Given the description of an element on the screen output the (x, y) to click on. 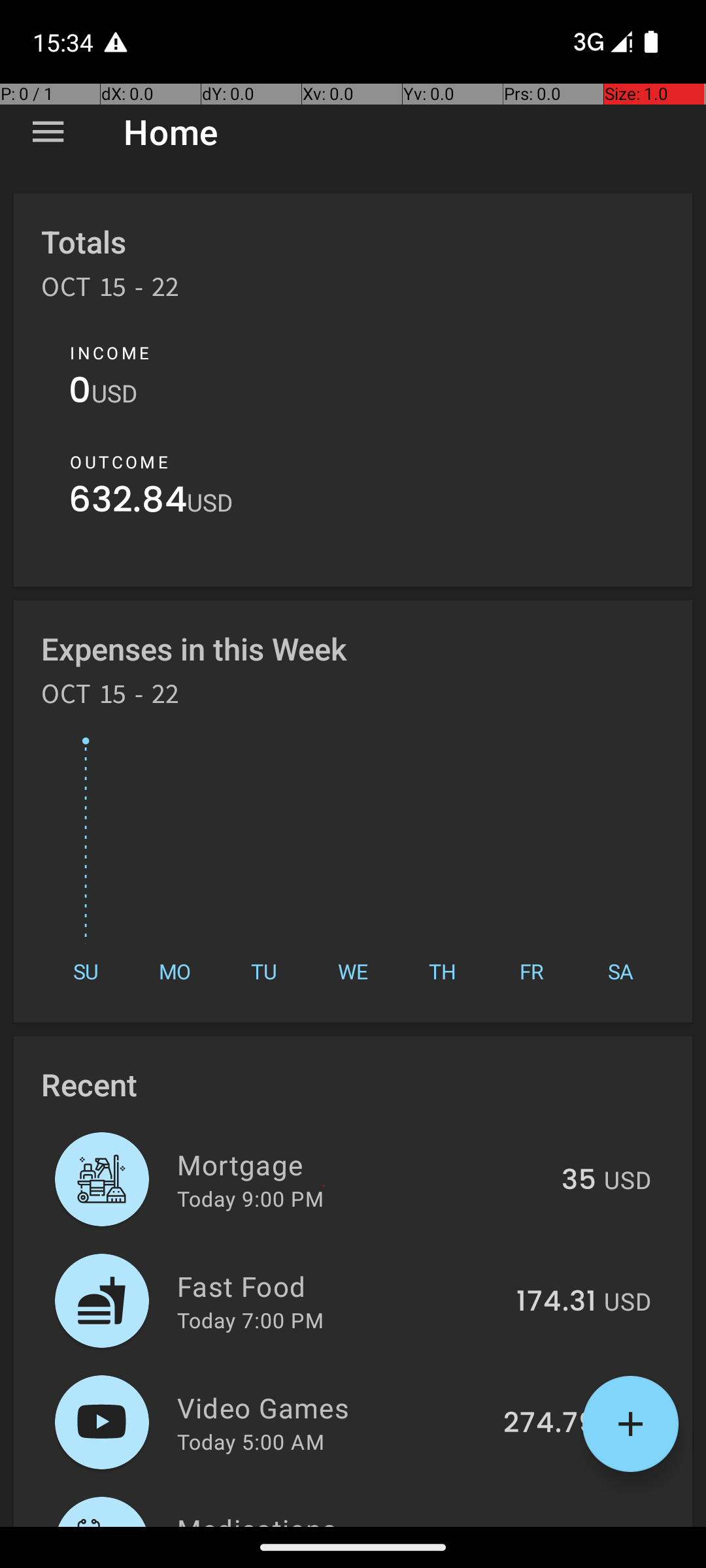
632.84 Element type: android.widget.TextView (127, 502)
Mortgage Element type: android.widget.TextView (361, 1164)
Today 9:00 PM Element type: android.widget.TextView (250, 1198)
Fast Food Element type: android.widget.TextView (339, 1285)
Today 7:00 PM Element type: android.widget.TextView (250, 1320)
174.31 Element type: android.widget.TextView (555, 1301)
Video Games Element type: android.widget.TextView (332, 1407)
Today 5:00 AM Element type: android.widget.TextView (250, 1441)
274.79 Element type: android.widget.TextView (549, 1423)
Medications Element type: android.widget.TextView (334, 1518)
148.74 Element type: android.widget.TextView (551, 1524)
